Given the description of an element on the screen output the (x, y) to click on. 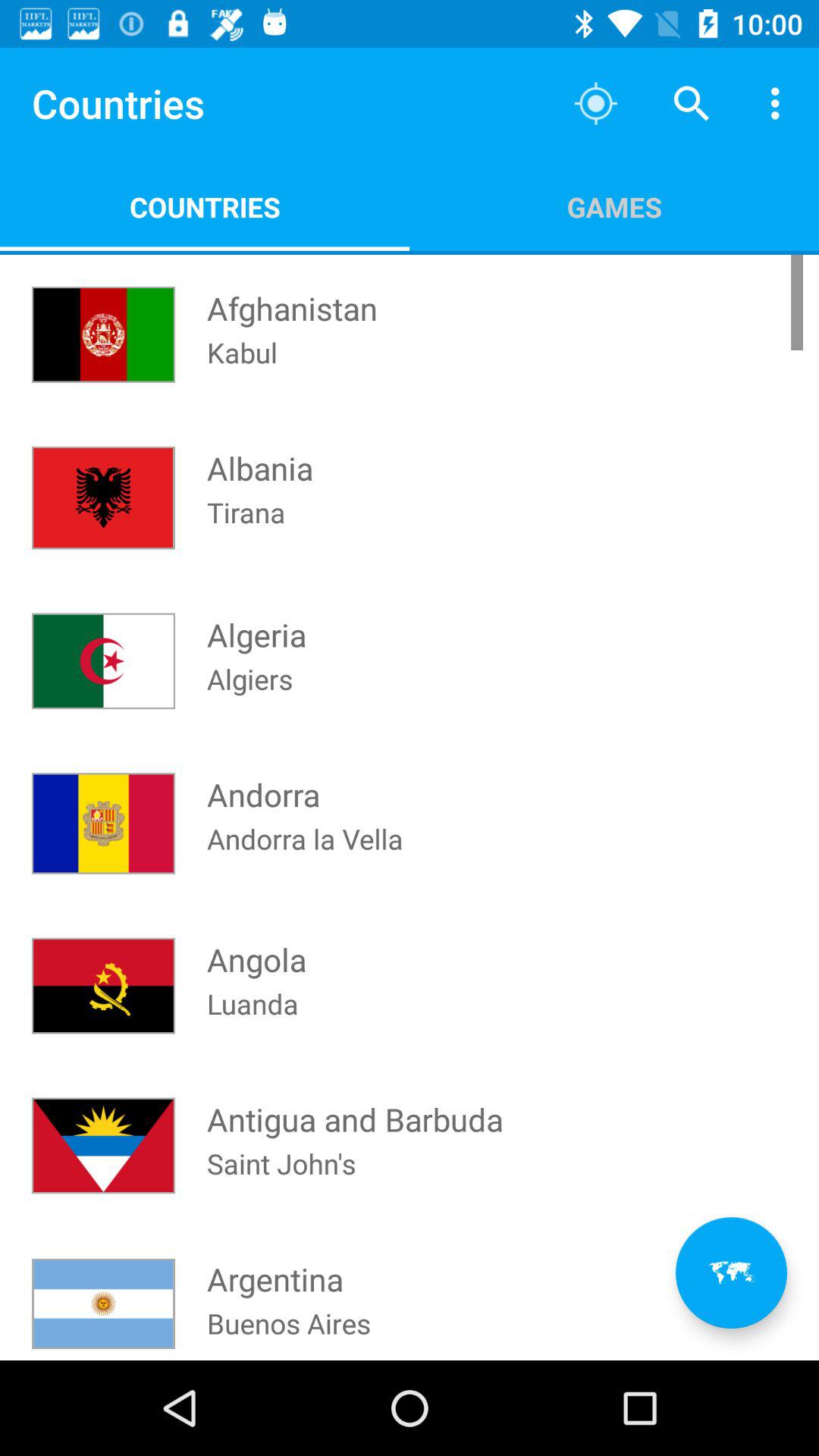
select the item below games app (731, 1272)
